Given the description of an element on the screen output the (x, y) to click on. 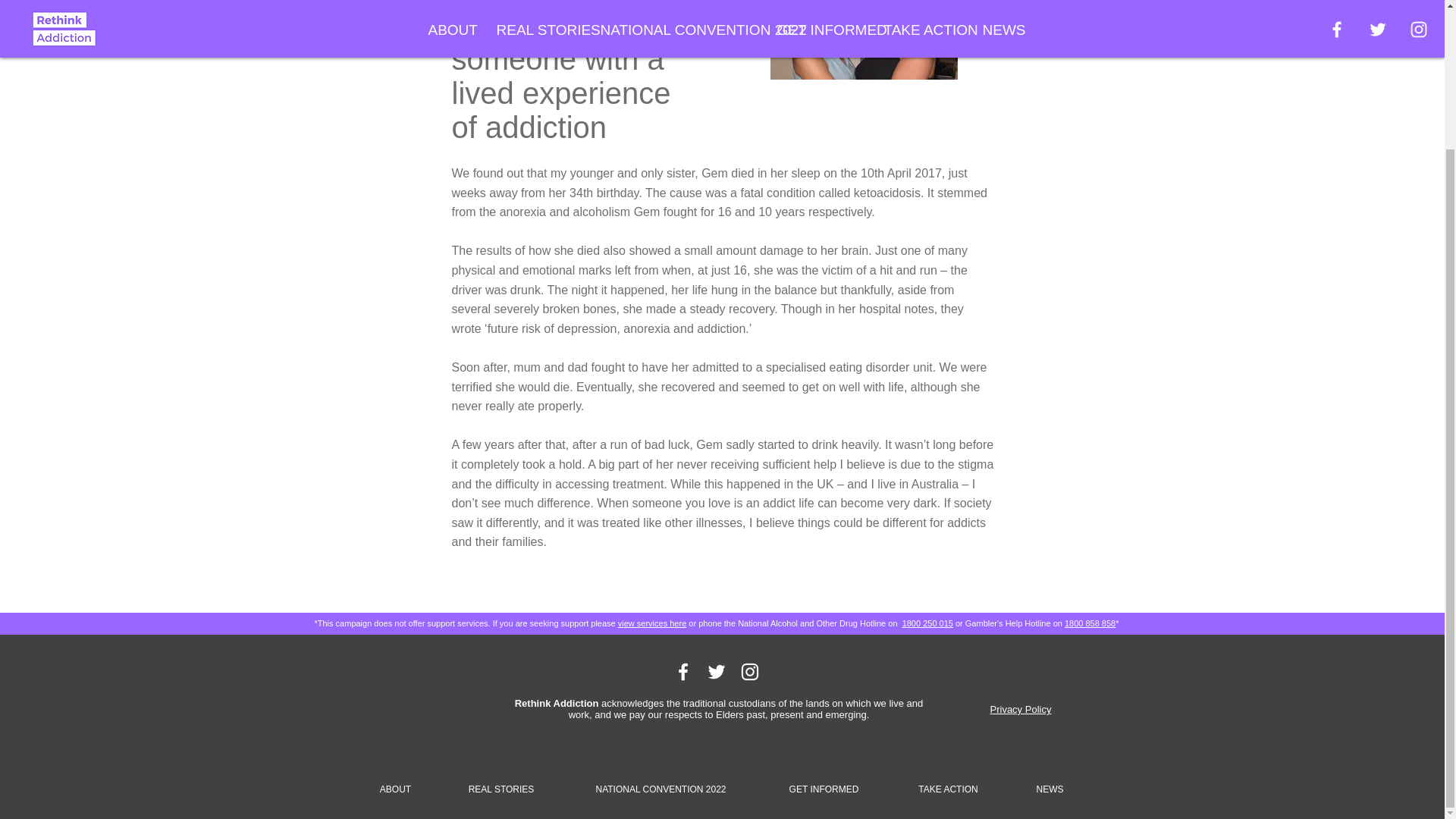
1800 250 015 (927, 623)
Privacy Policy (1020, 708)
1800 858 858 (1089, 623)
Nicola (863, 39)
view services here (651, 623)
ABOUT (394, 782)
REAL STORIES (500, 782)
